Given the description of an element on the screen output the (x, y) to click on. 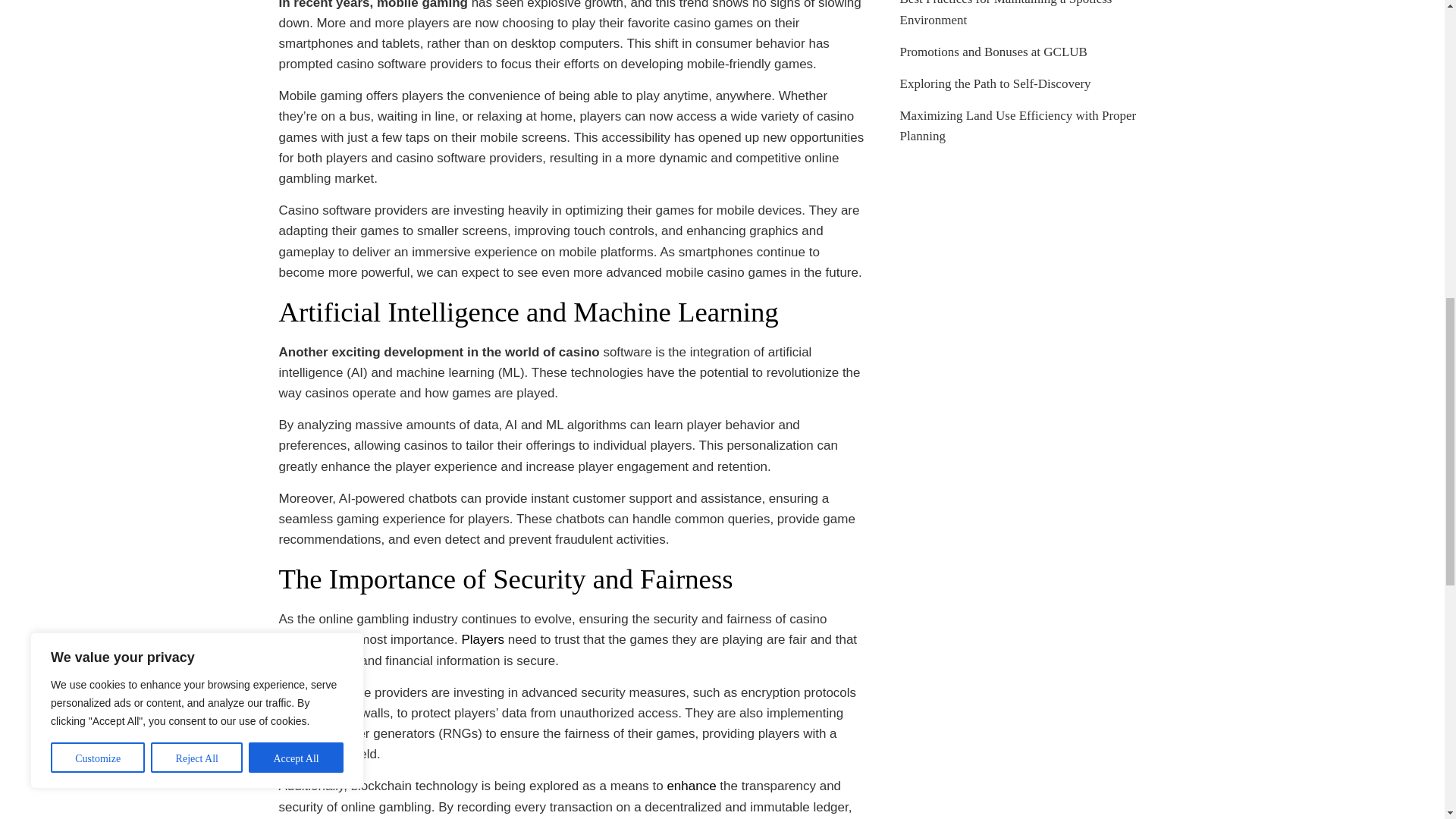
enhance (691, 785)
Players (482, 639)
